Given the description of an element on the screen output the (x, y) to click on. 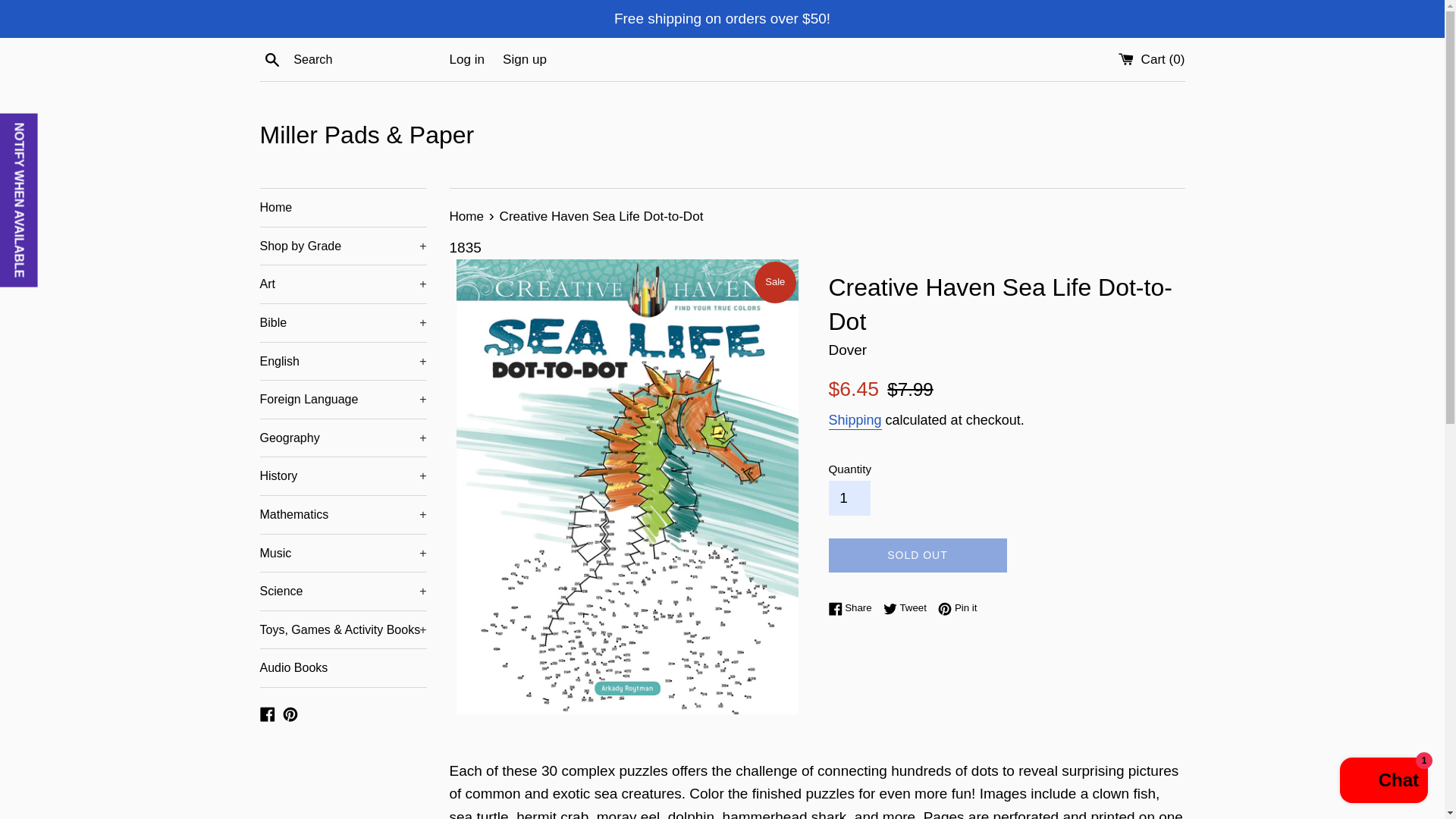
Share on Facebook (853, 607)
Home (342, 207)
Shopify online store chat (1383, 781)
Search (271, 58)
Tweet on Twitter (908, 607)
Back to the frontpage (467, 216)
Pin on Pinterest (956, 607)
Sign up (524, 59)
Log in (466, 59)
1 (848, 497)
